Given the description of an element on the screen output the (x, y) to click on. 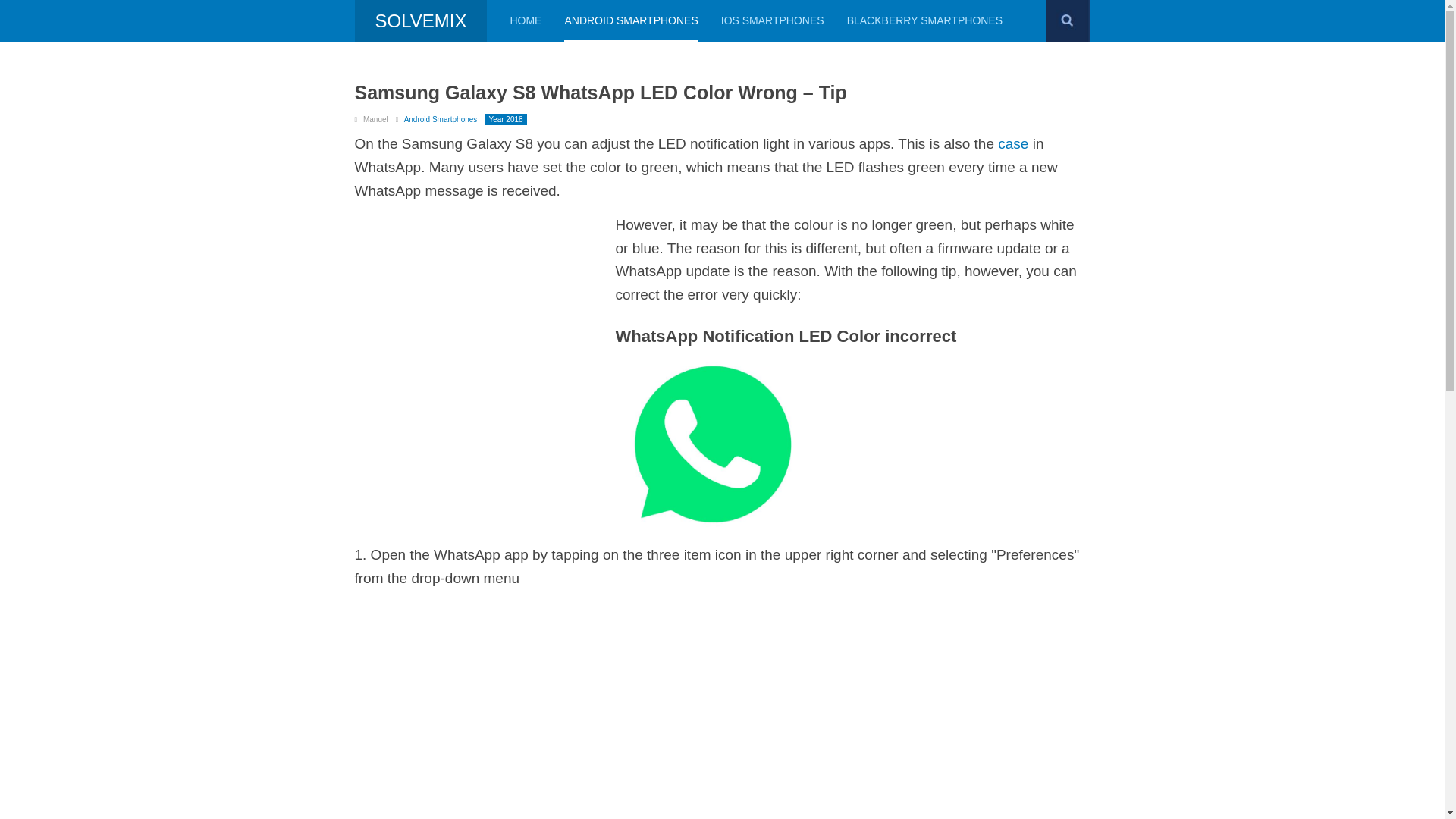
case (1012, 143)
SOLVEMIX (421, 20)
Solvemix (421, 20)
Year 2018 (504, 119)
IOS SMARTPHONES (772, 20)
BLACKBERRY SMARTPHONES (925, 20)
Android Smartphones (440, 119)
Advertisement (482, 319)
ANDROID SMARTPHONES (630, 20)
